Given the description of an element on the screen output the (x, y) to click on. 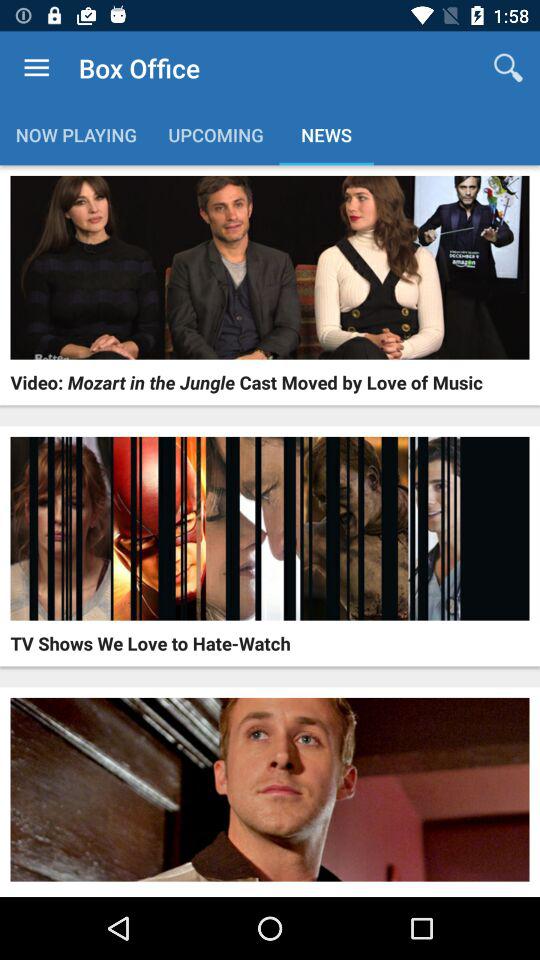
open app next to the box office app (508, 67)
